Given the description of an element on the screen output the (x, y) to click on. 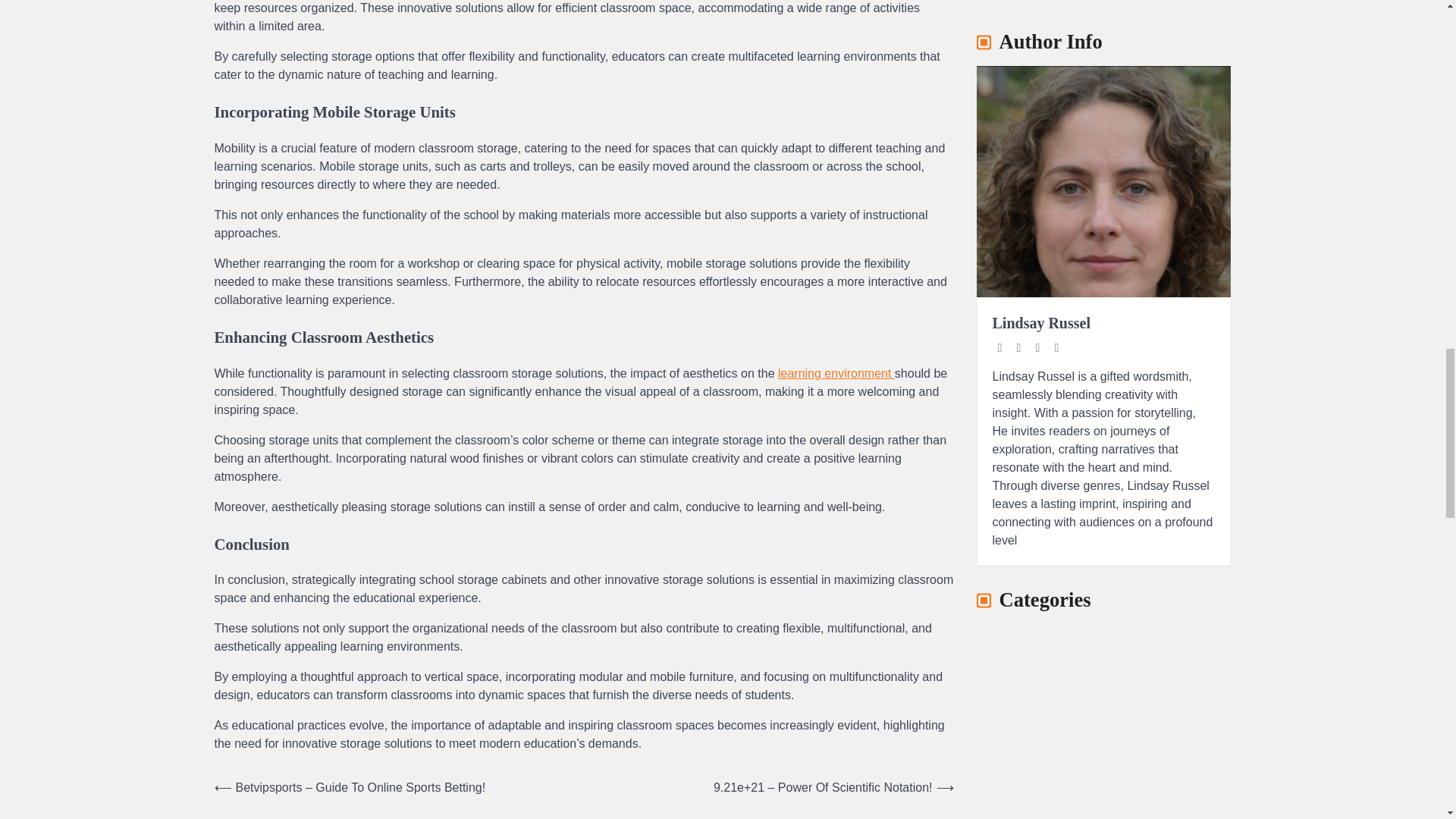
learning environment (836, 373)
